Given the description of an element on the screen output the (x, y) to click on. 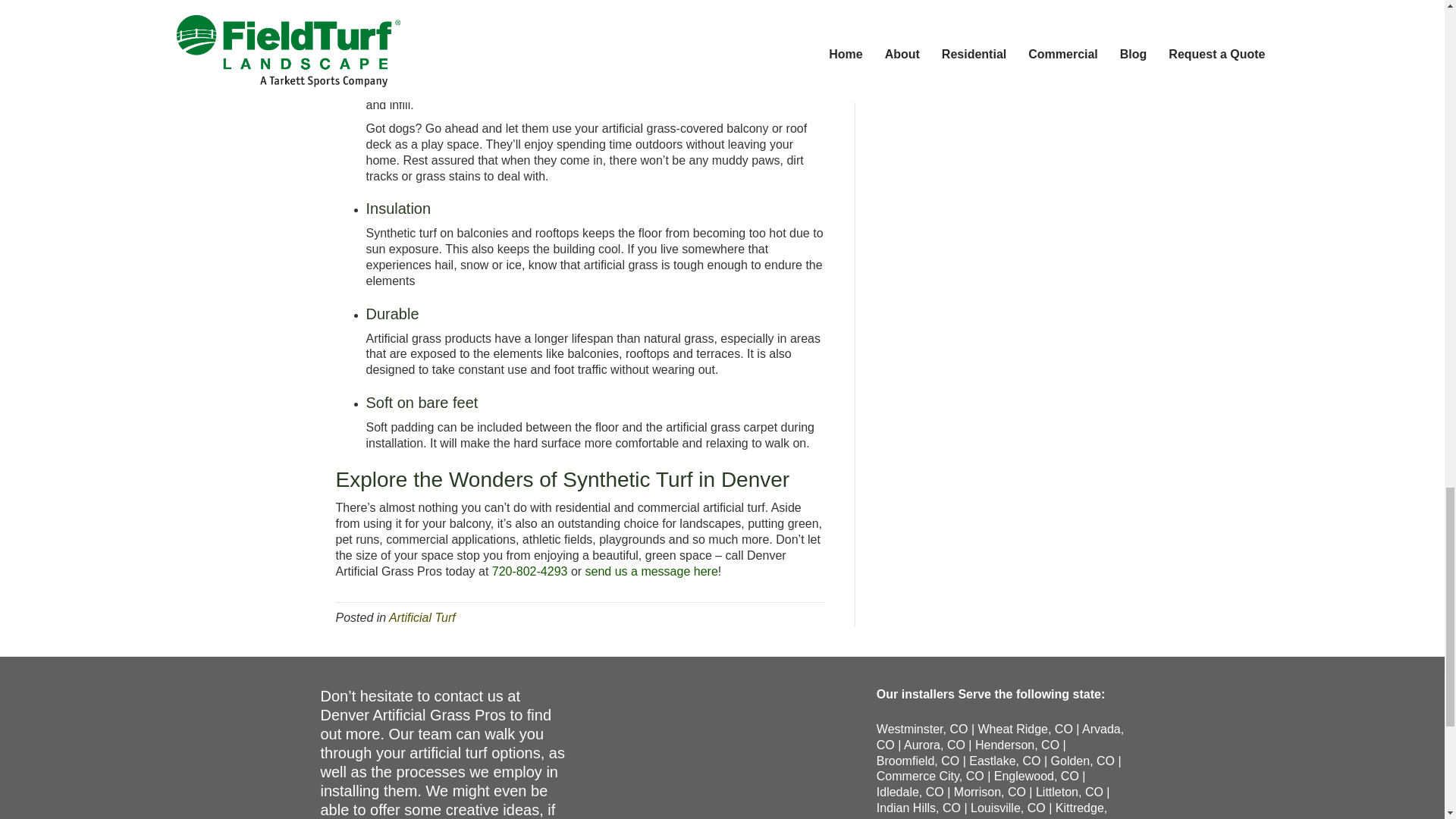
send us a message here (651, 571)
Artificial grass for dogs and Denver (459, 73)
Artificial Turf (421, 617)
720-802-4293 (529, 571)
